Given the description of an element on the screen output the (x, y) to click on. 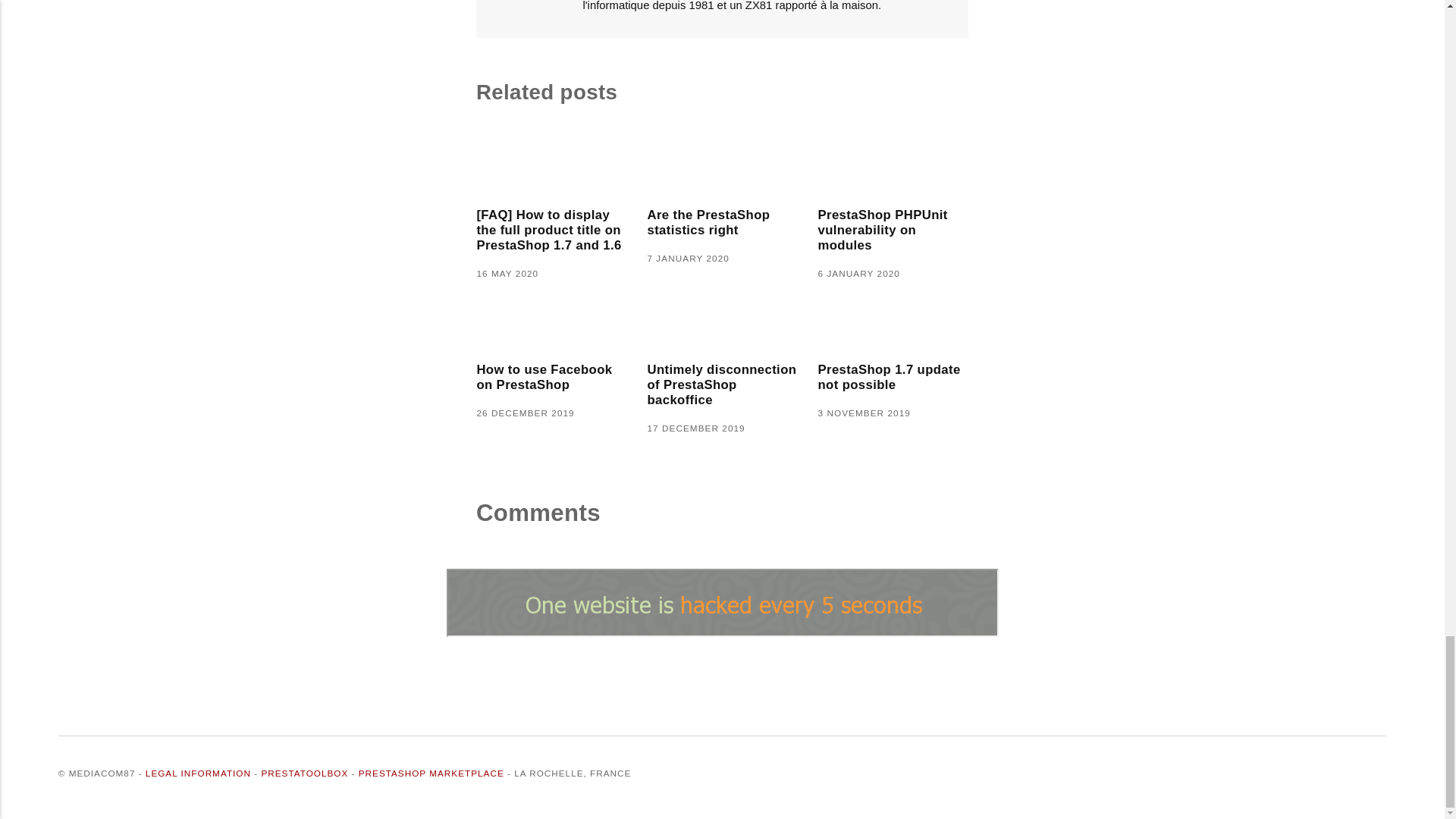
How to use Facebook on PrestaShop (551, 377)
Are the PrestaShop statistics right (721, 223)
PrestaShop PHPUnit vulnerability on modules (892, 230)
PrestaShop 1.7 update not possible (892, 377)
Untimely disconnection of PrestaShop backoffice (721, 384)
